Given the description of an element on the screen output the (x, y) to click on. 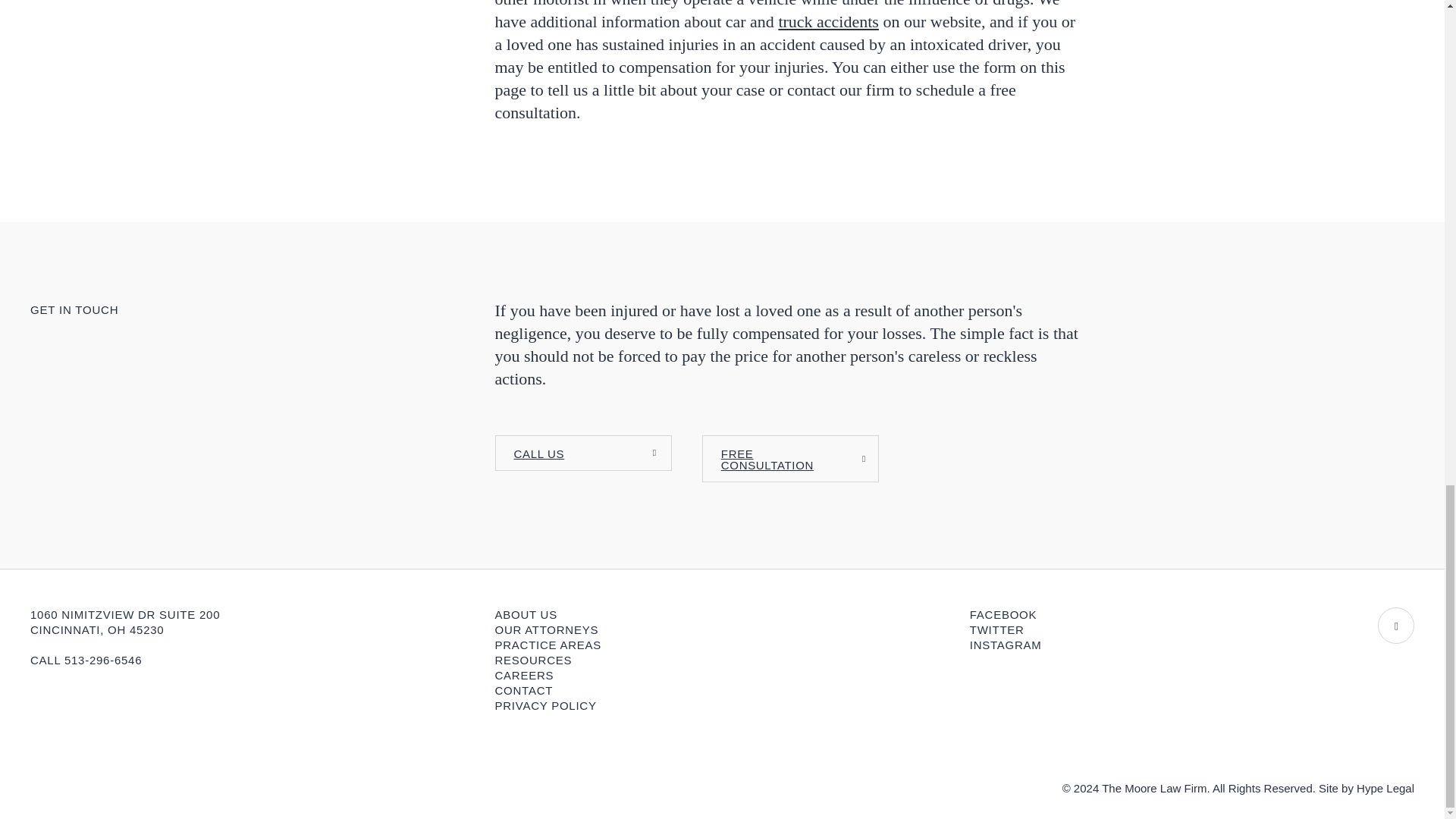
PRIVACY POLICY (545, 705)
CONTACT (524, 689)
TWITTER (997, 629)
ABOUT US (525, 614)
RESOURCES (533, 659)
PRACTICE AREAS (548, 644)
FACEBOOK (1002, 614)
CALL 513-296-6546 (85, 660)
OUR ATTORNEYS (546, 629)
truck accidents (828, 21)
Hype Legal (1384, 788)
INSTAGRAM (1005, 644)
The Moore Law Firm. (1155, 788)
CALL US (583, 452)
FREE CONSULTATION (790, 458)
